Given the description of an element on the screen output the (x, y) to click on. 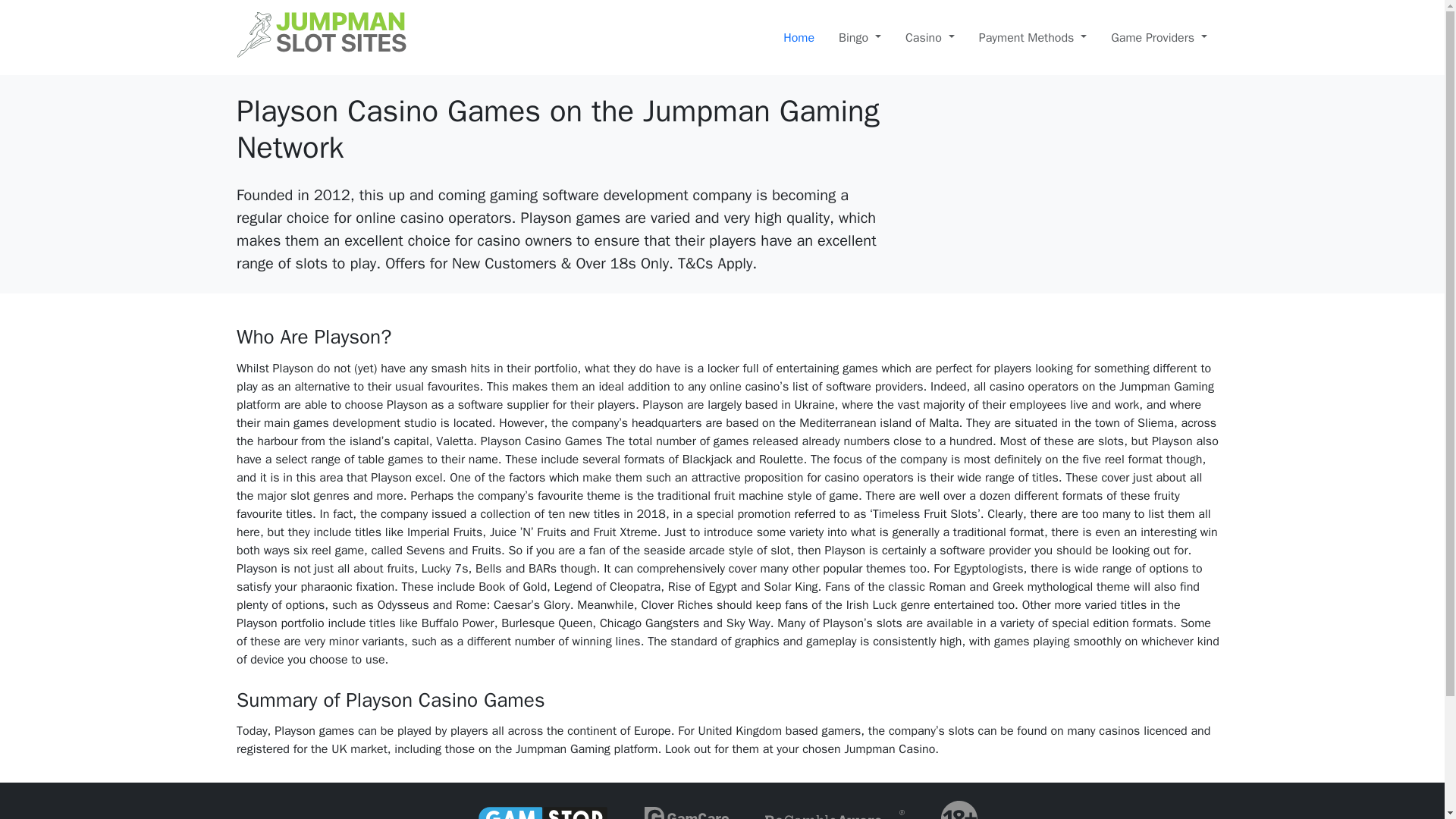
Home (799, 37)
Jumpman Slot Sites (320, 34)
Game Providers (1159, 37)
Bingo (860, 37)
Casino (929, 37)
Payment Methods (1032, 37)
